Given the description of an element on the screen output the (x, y) to click on. 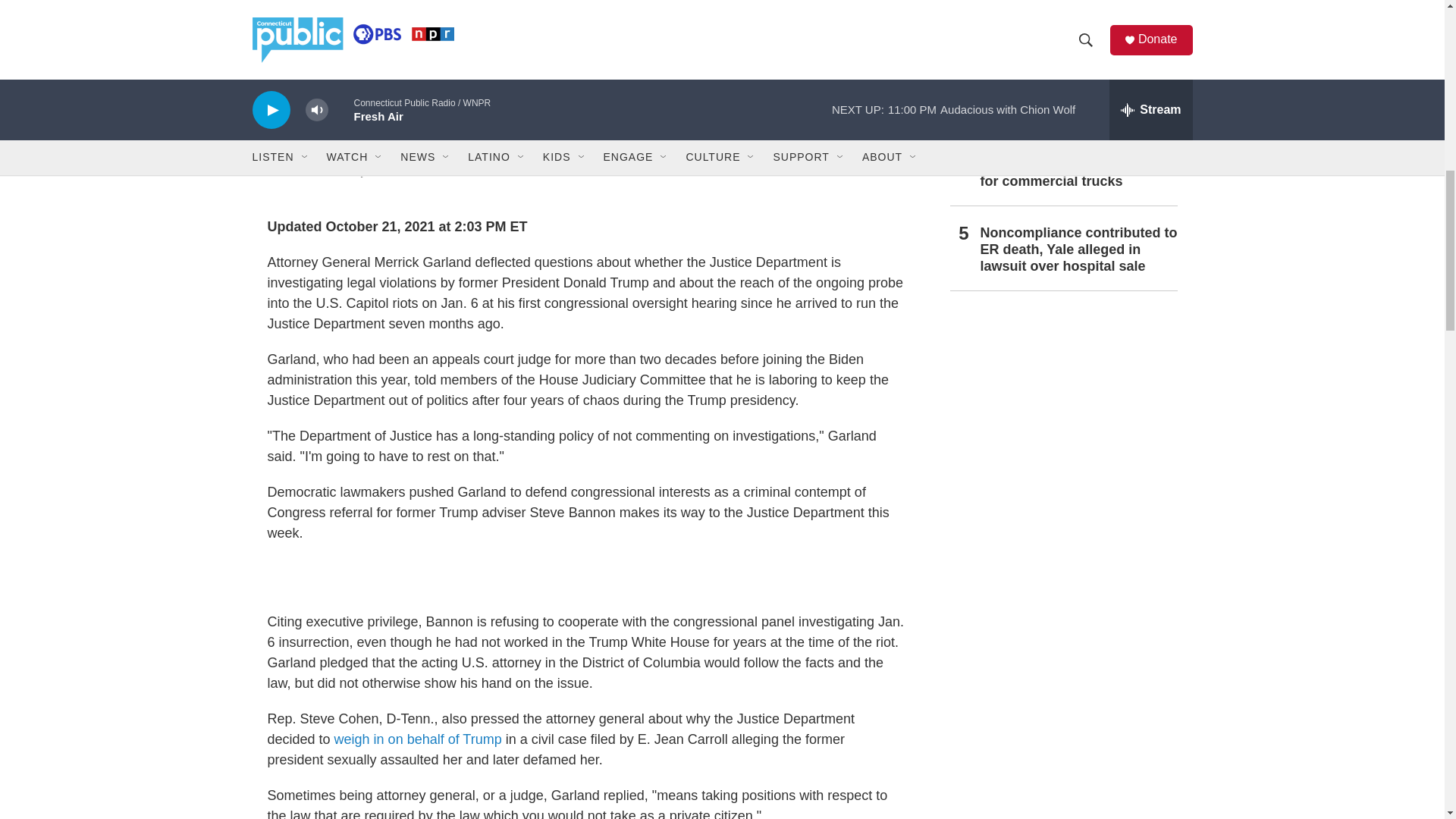
3rd party ad content (1062, 790)
3rd party ad content (585, 577)
3rd party ad content (1062, 636)
3rd party ad content (1062, 416)
